Given the description of an element on the screen output the (x, y) to click on. 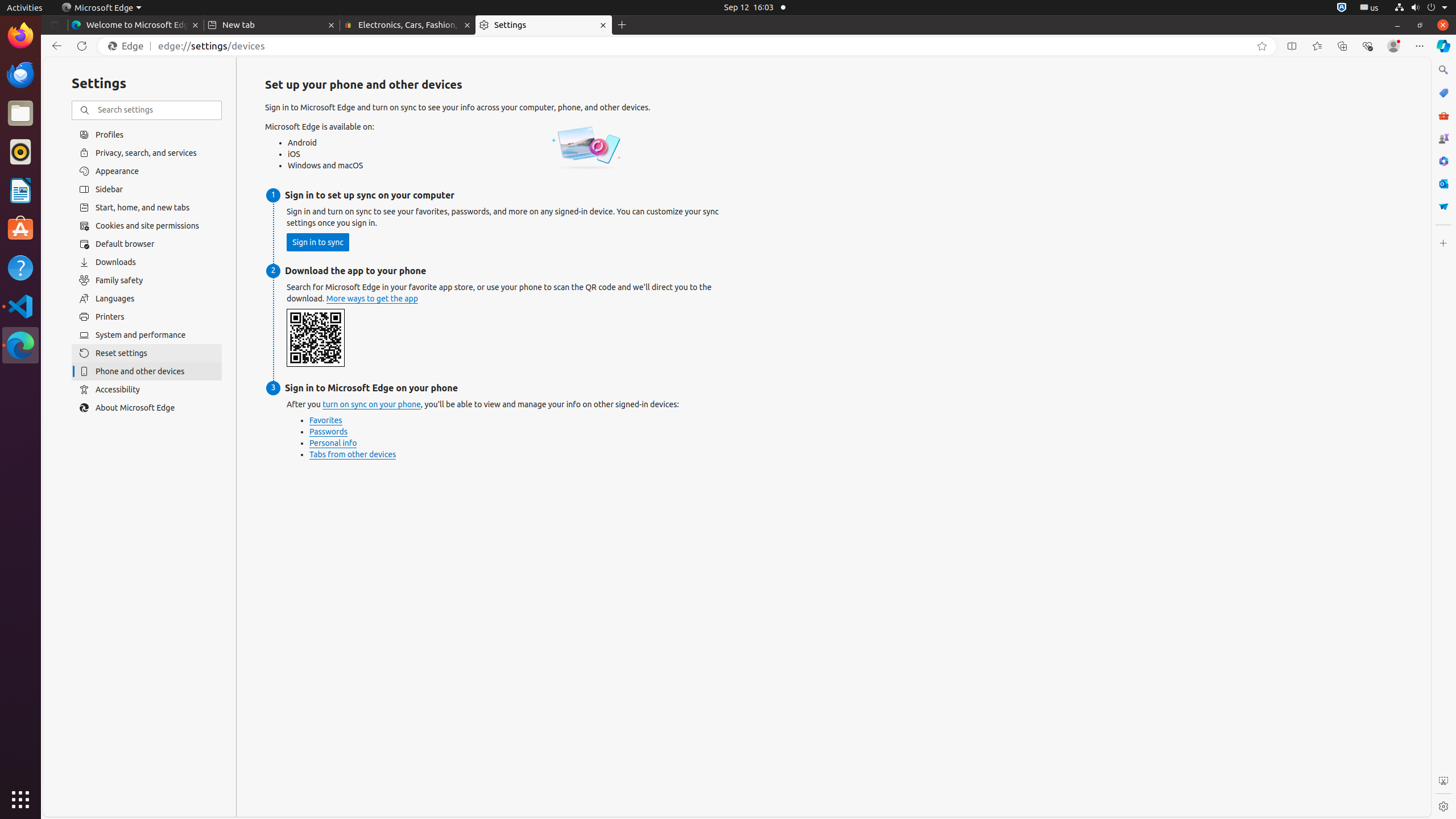
Microsoft Edge Element type: menu (101, 7)
Visual Studio Code Element type: push-button (20, 306)
Microsoft Edge Element type: push-button (20, 344)
New tab Element type: page-tab (271, 25)
Downloads Element type: tree-item (146, 262)
